Given the description of an element on the screen output the (x, y) to click on. 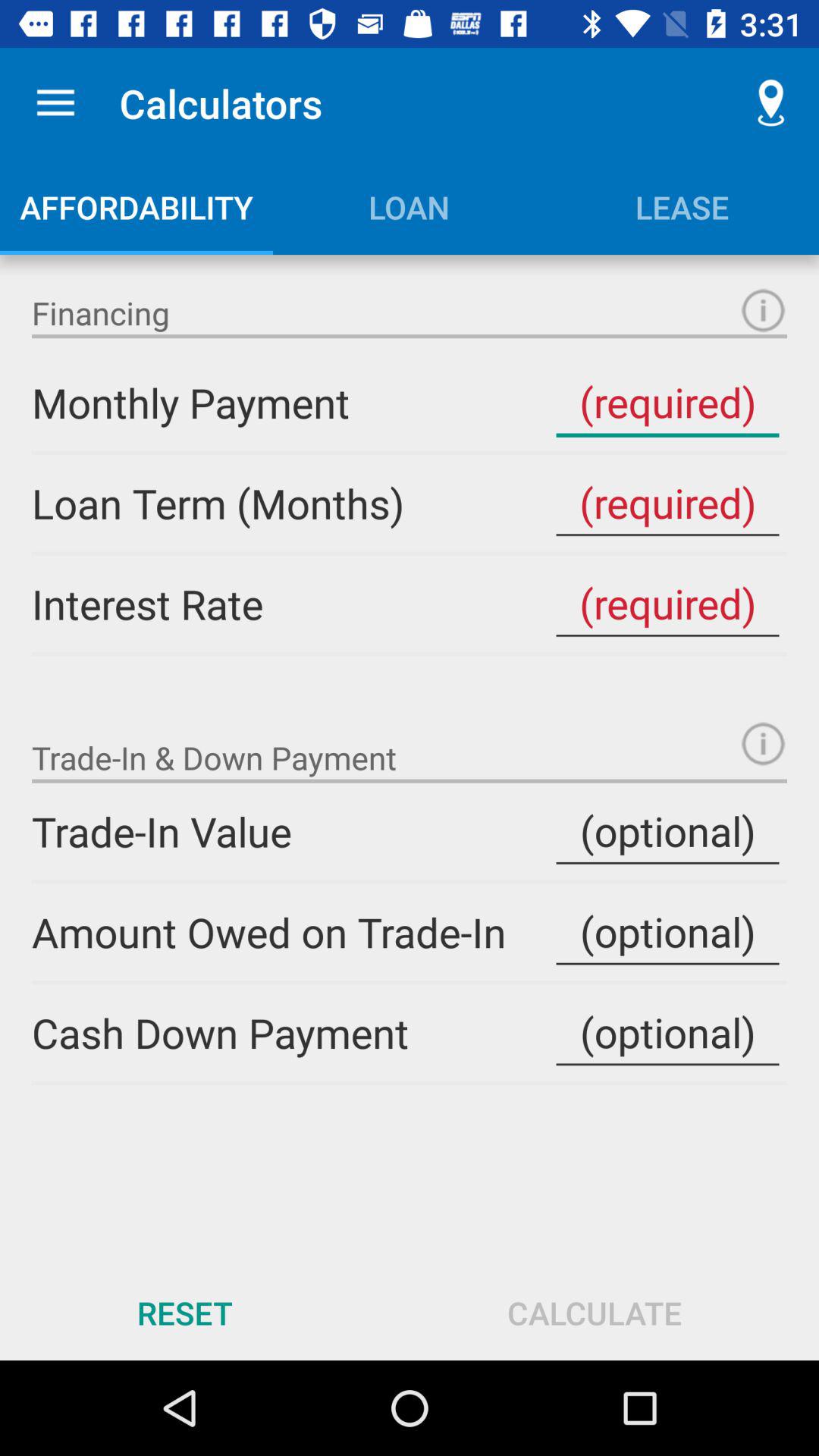
enter trade-in value (667, 831)
